Given the description of an element on the screen output the (x, y) to click on. 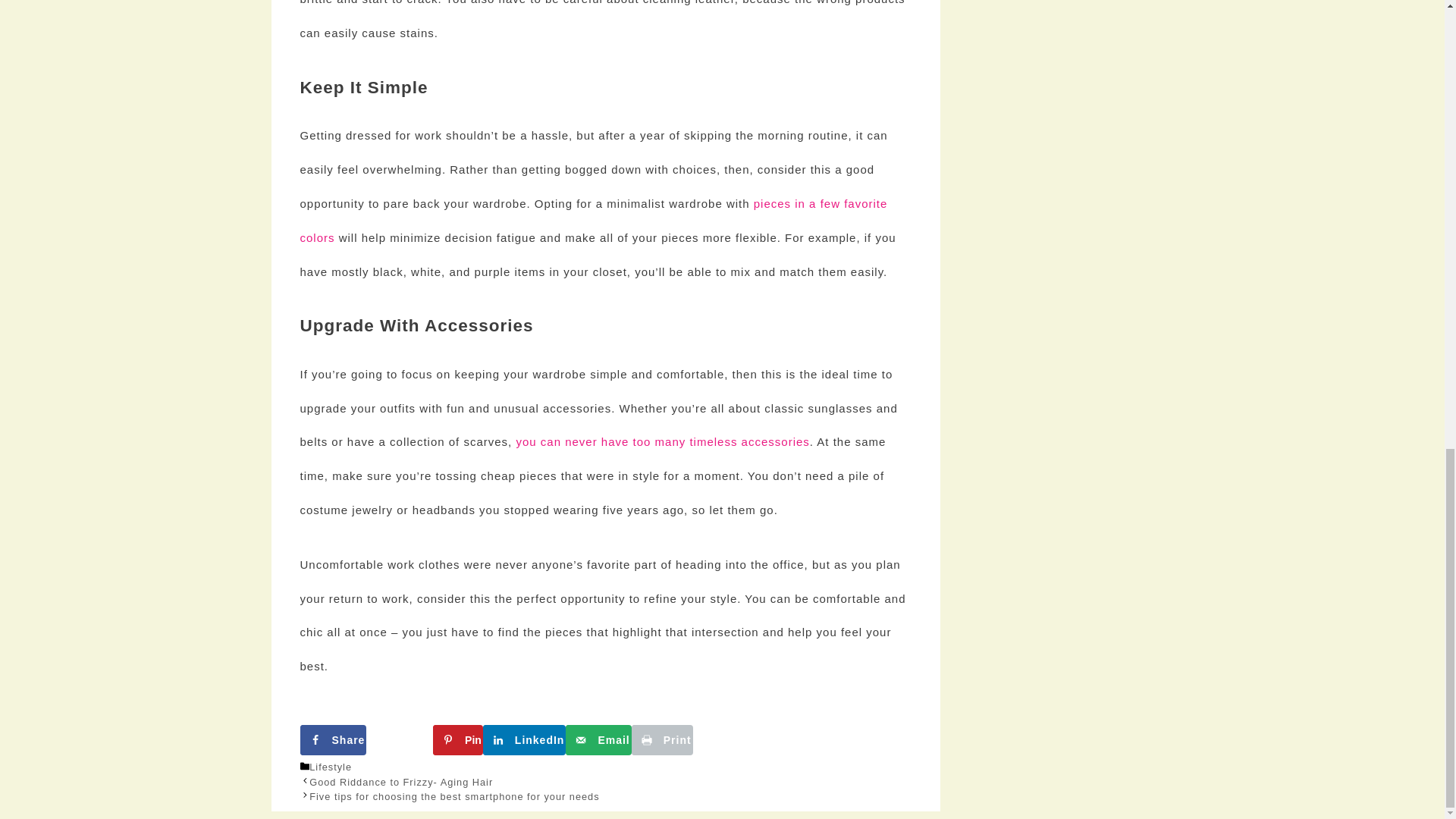
Print this webpage (813, 435)
Send over email (605, 435)
Save to Pinterest (813, 398)
Share on X (605, 398)
Share on Facebook (397, 398)
Share on LinkedIn (397, 435)
